Given the description of an element on the screen output the (x, y) to click on. 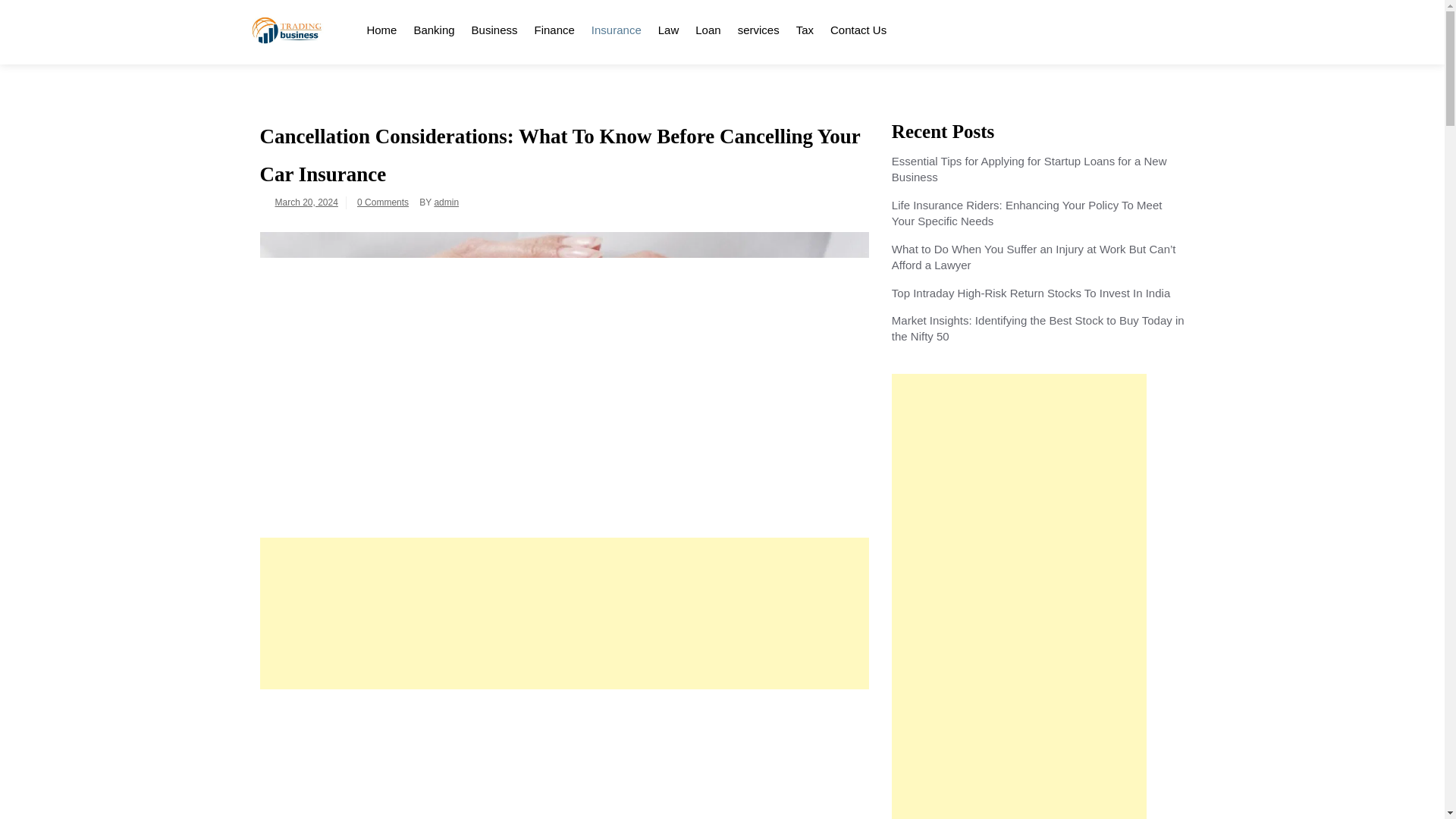
services (758, 28)
Loan (708, 28)
Contact Us (858, 28)
Contact Us (858, 28)
Business (494, 28)
March 20, 2024 (306, 202)
Home (381, 28)
services (758, 28)
admin (445, 202)
0 Comments (382, 202)
Insurance (616, 28)
Law (668, 28)
Law (668, 28)
My Blog (268, 69)
